Given the description of an element on the screen output the (x, y) to click on. 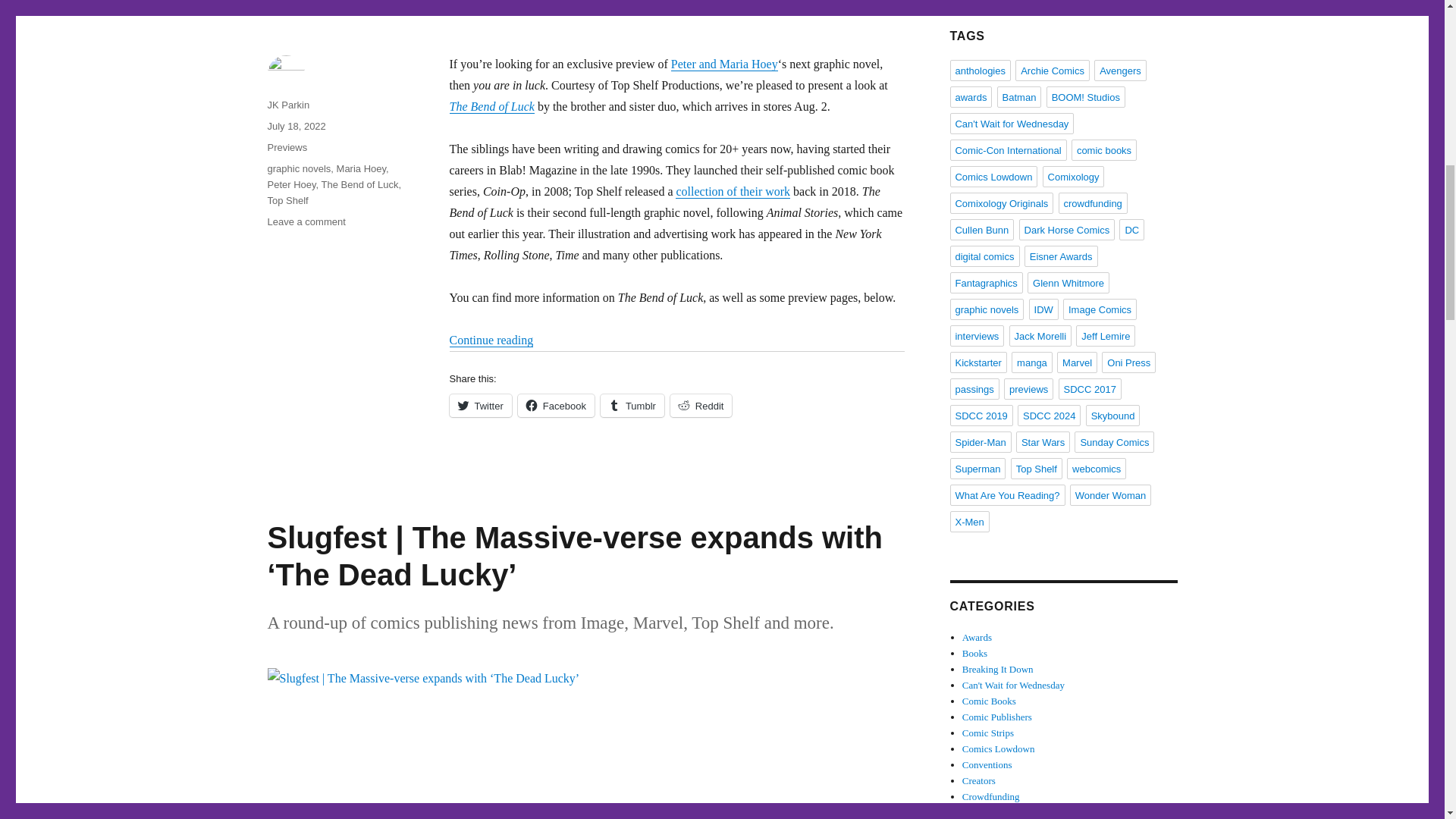
The Bend of Luck (359, 184)
Previews (286, 147)
Click to share on Facebook (556, 404)
Twitter (479, 404)
graphic novels (298, 168)
Top Shelf (286, 200)
JK Parkin (287, 104)
Click to share on Twitter (479, 404)
Peter and Maria Hoey (724, 63)
Tumblr (631, 404)
